Given the description of an element on the screen output the (x, y) to click on. 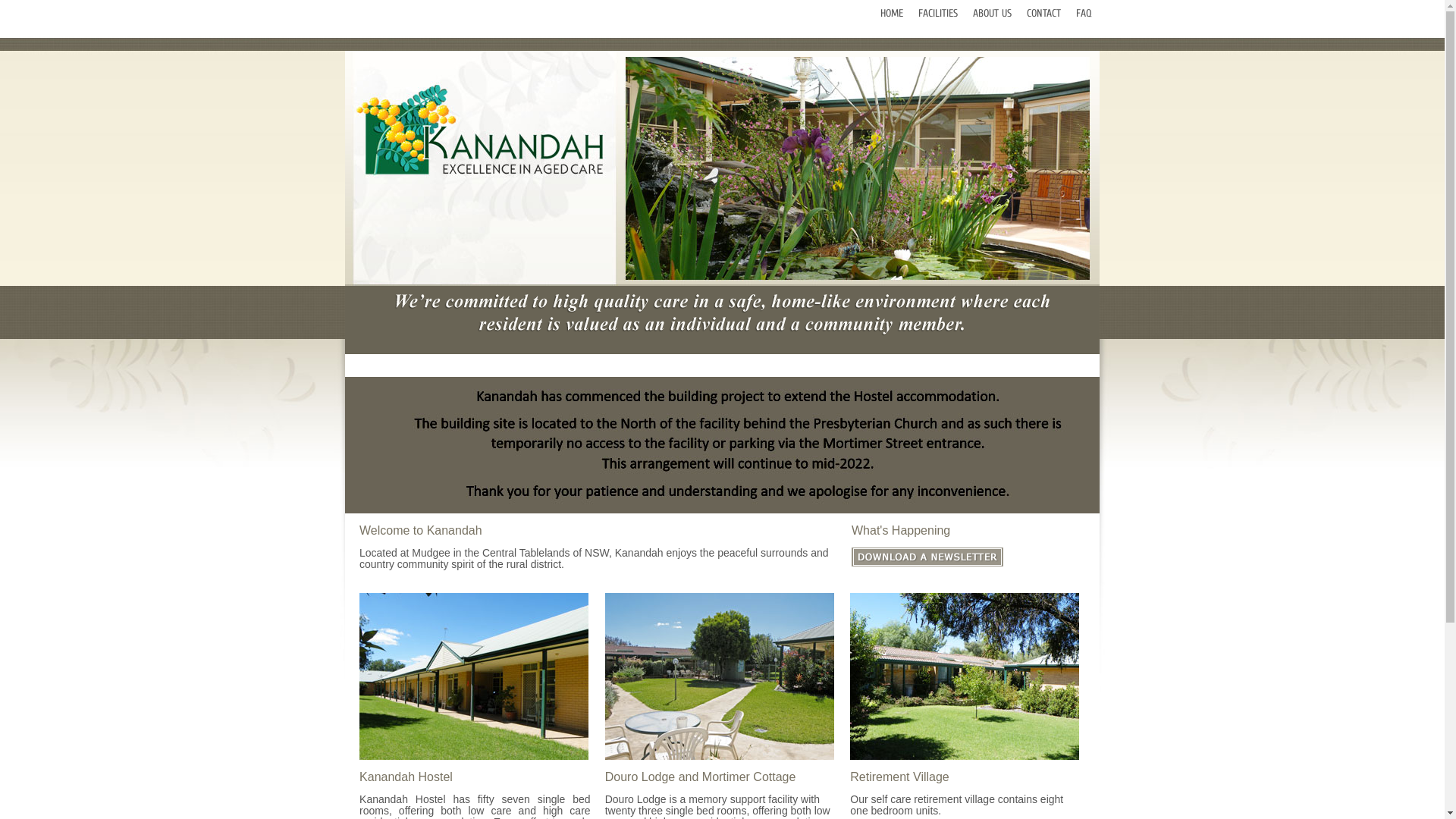
CONTACT Element type: text (1043, 13)
ABOUT US Element type: text (992, 13)
FAQ Element type: text (1083, 13)
HOME Element type: text (891, 13)
FACILITIES Element type: text (937, 13)
